Given the description of an element on the screen output the (x, y) to click on. 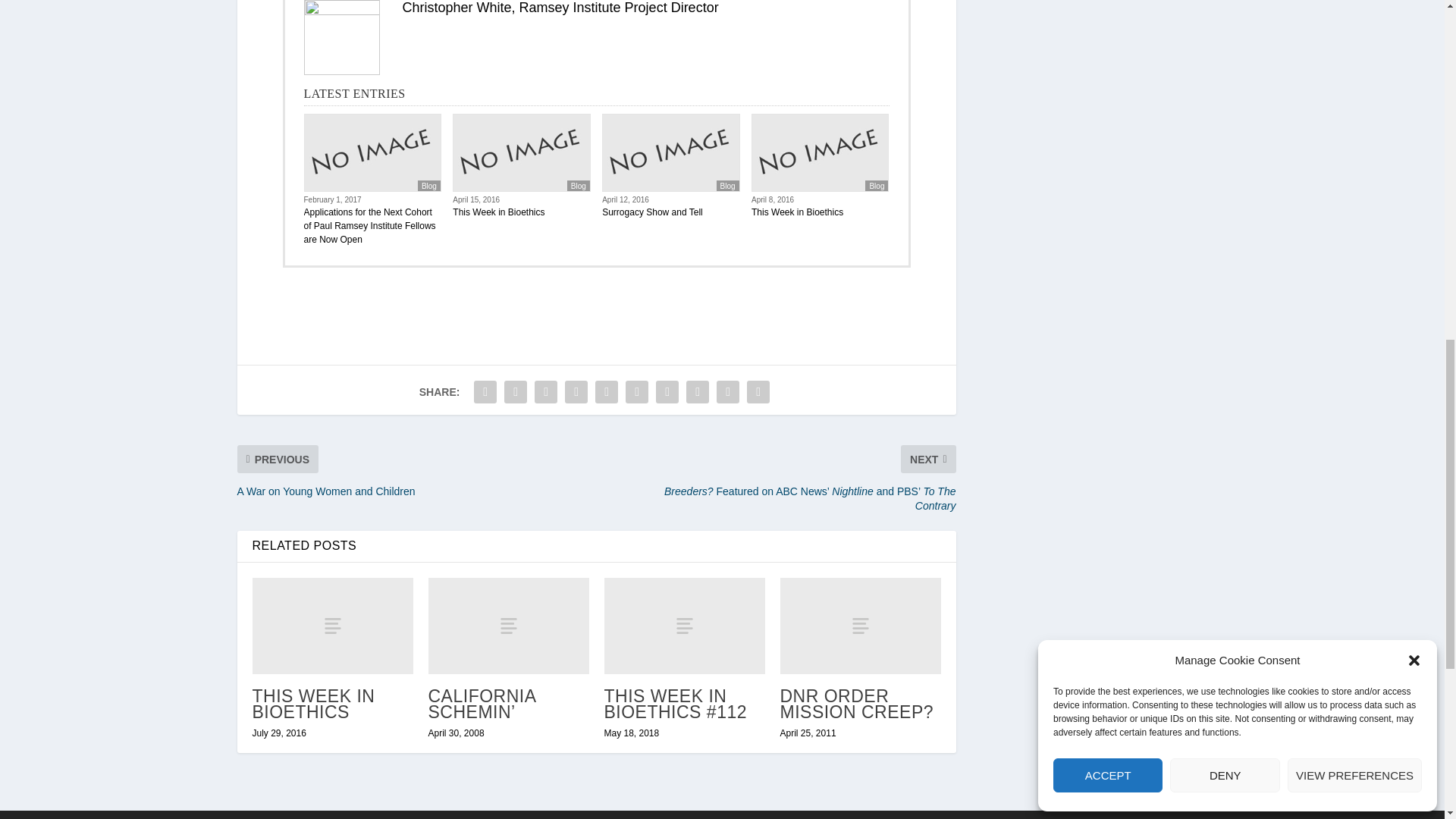
This Week in Bioethics (331, 626)
